Given the description of an element on the screen output the (x, y) to click on. 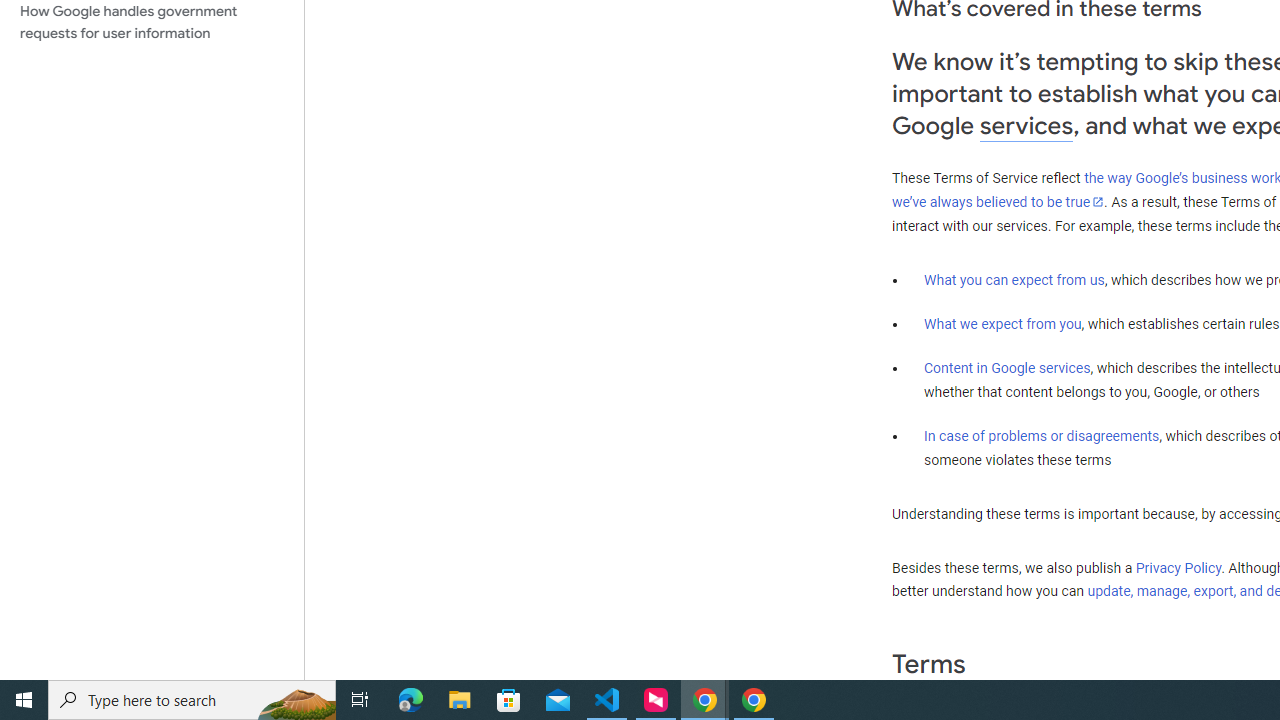
services (1026, 125)
What you can expect from us (1014, 279)
What we expect from you (1002, 323)
